Given the description of an element on the screen output the (x, y) to click on. 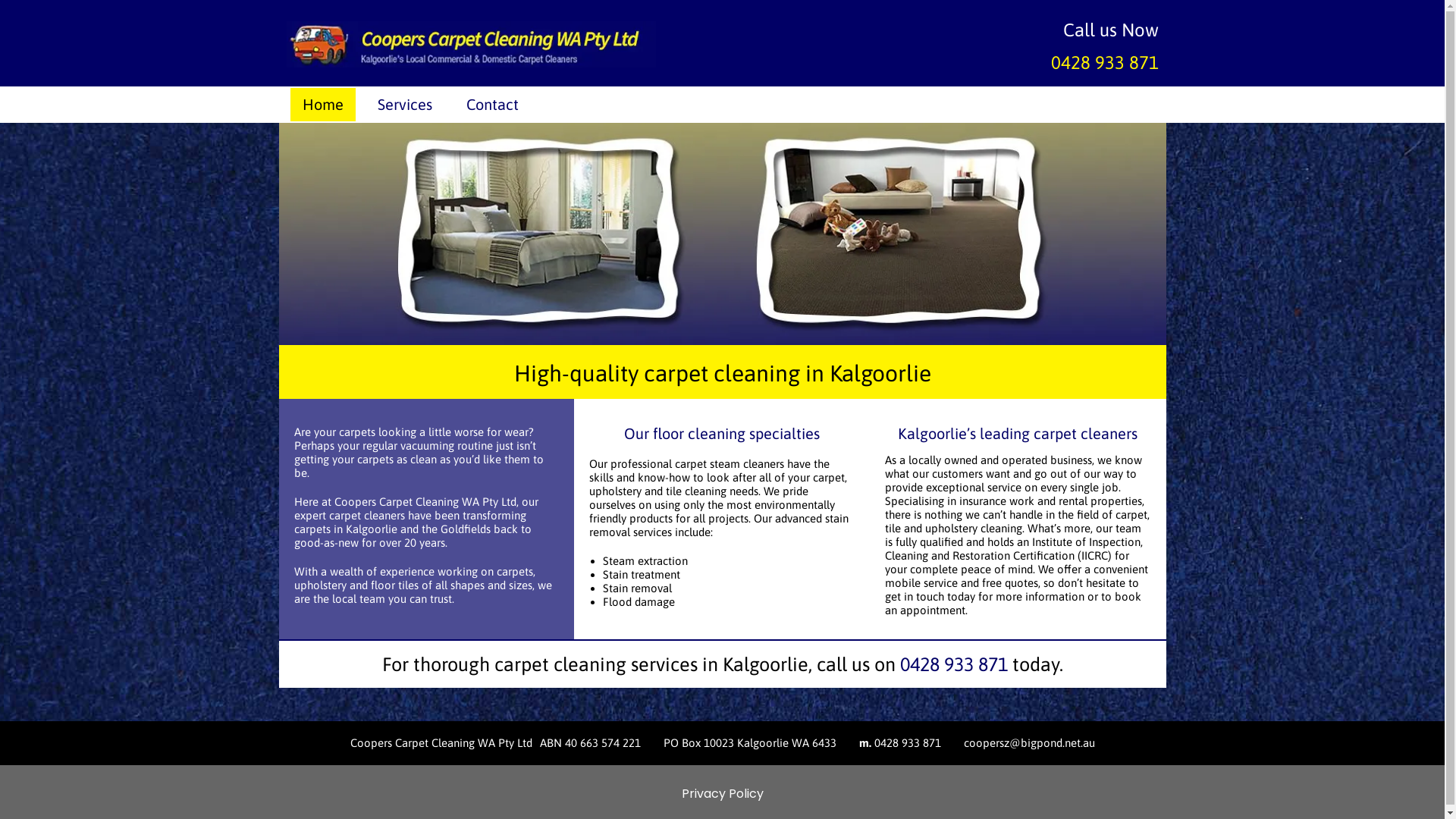
Home Element type: text (322, 104)
0428 933 871 Element type: text (1104, 62)
coopers carpet cleaning blue and brown carpet Element type: hover (722, 233)
0428 933 871 Element type: text (906, 742)
Privacy Policy Element type: text (721, 793)
Services Element type: text (404, 104)
0428 933 871 Element type: text (953, 663)
Contact Element type: text (492, 104)
coopersz@bigpond.net.au Element type: text (1028, 742)
